Given the description of an element on the screen output the (x, y) to click on. 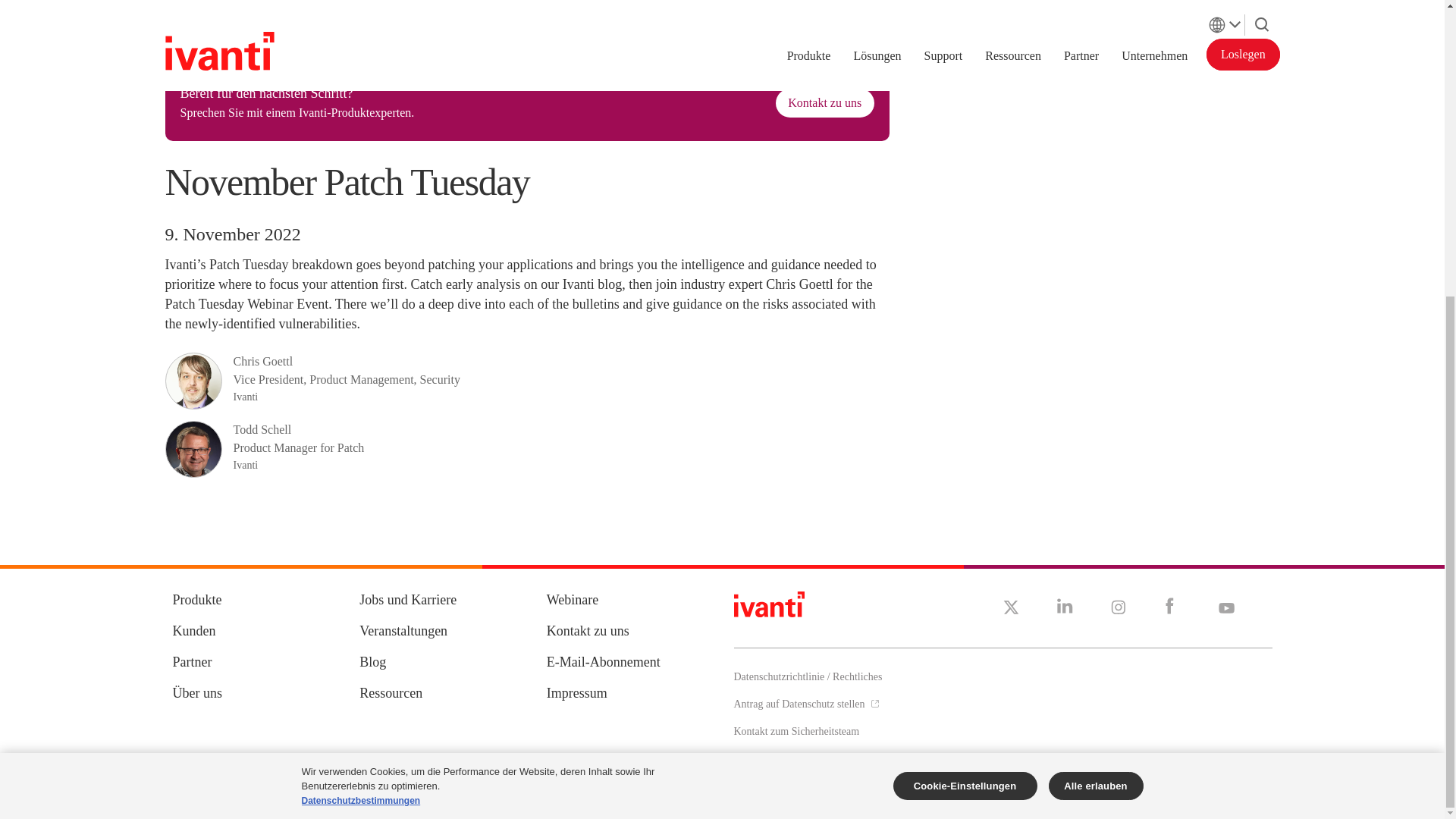
YouTube (1225, 605)
LinkedIn (1065, 605)
Instagram (1117, 605)
Twitter (1010, 607)
